Given the description of an element on the screen output the (x, y) to click on. 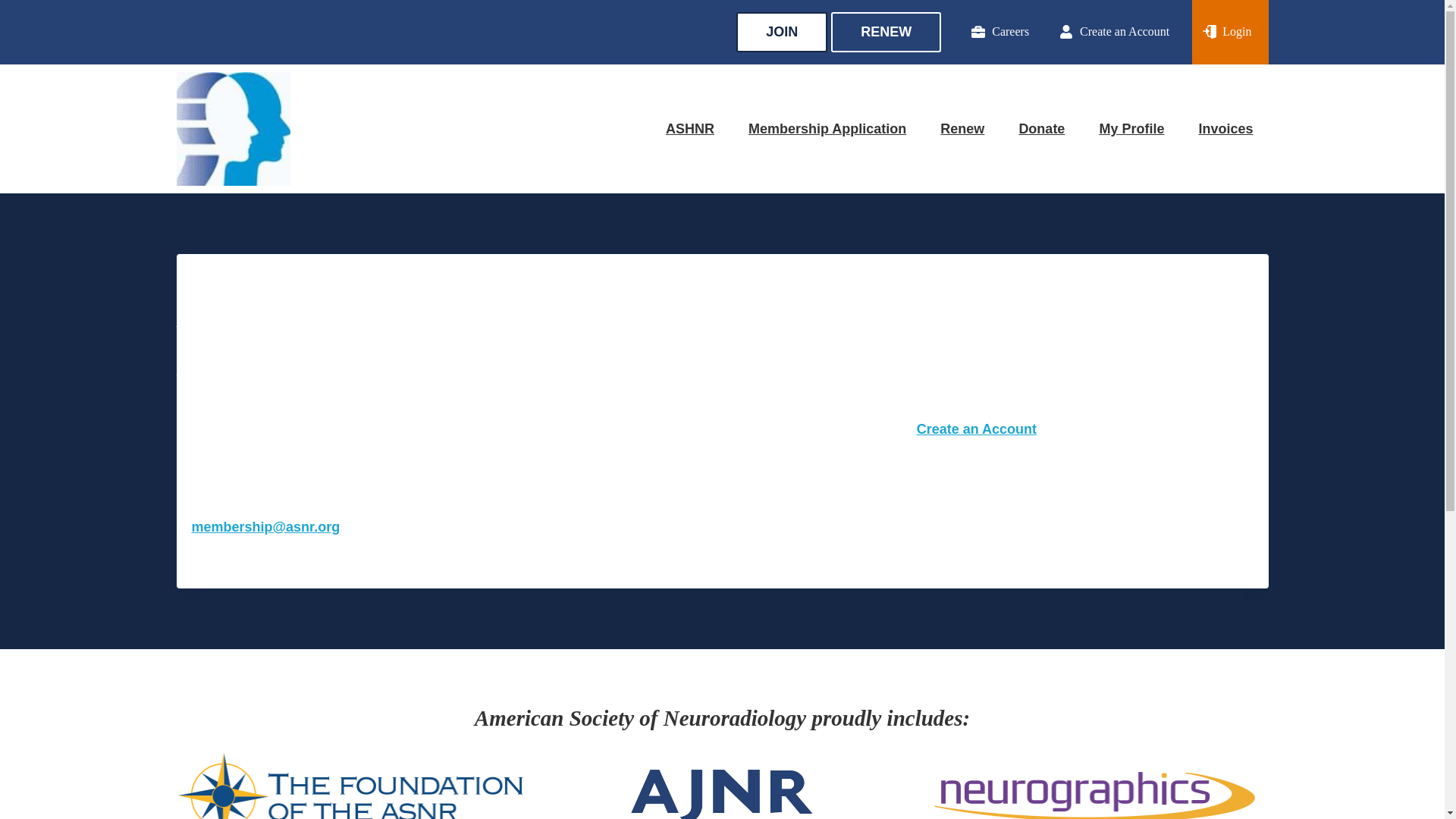
Membership Application (827, 128)
Invoices (1225, 128)
Renew (961, 128)
My Profile (1131, 128)
ASHNR (689, 128)
JOIN (781, 32)
Create an Account (1099, 32)
Login (1230, 32)
Careers (984, 32)
Create an Account (976, 428)
RENEW (885, 32)
Donate (1041, 128)
